Given the description of an element on the screen output the (x, y) to click on. 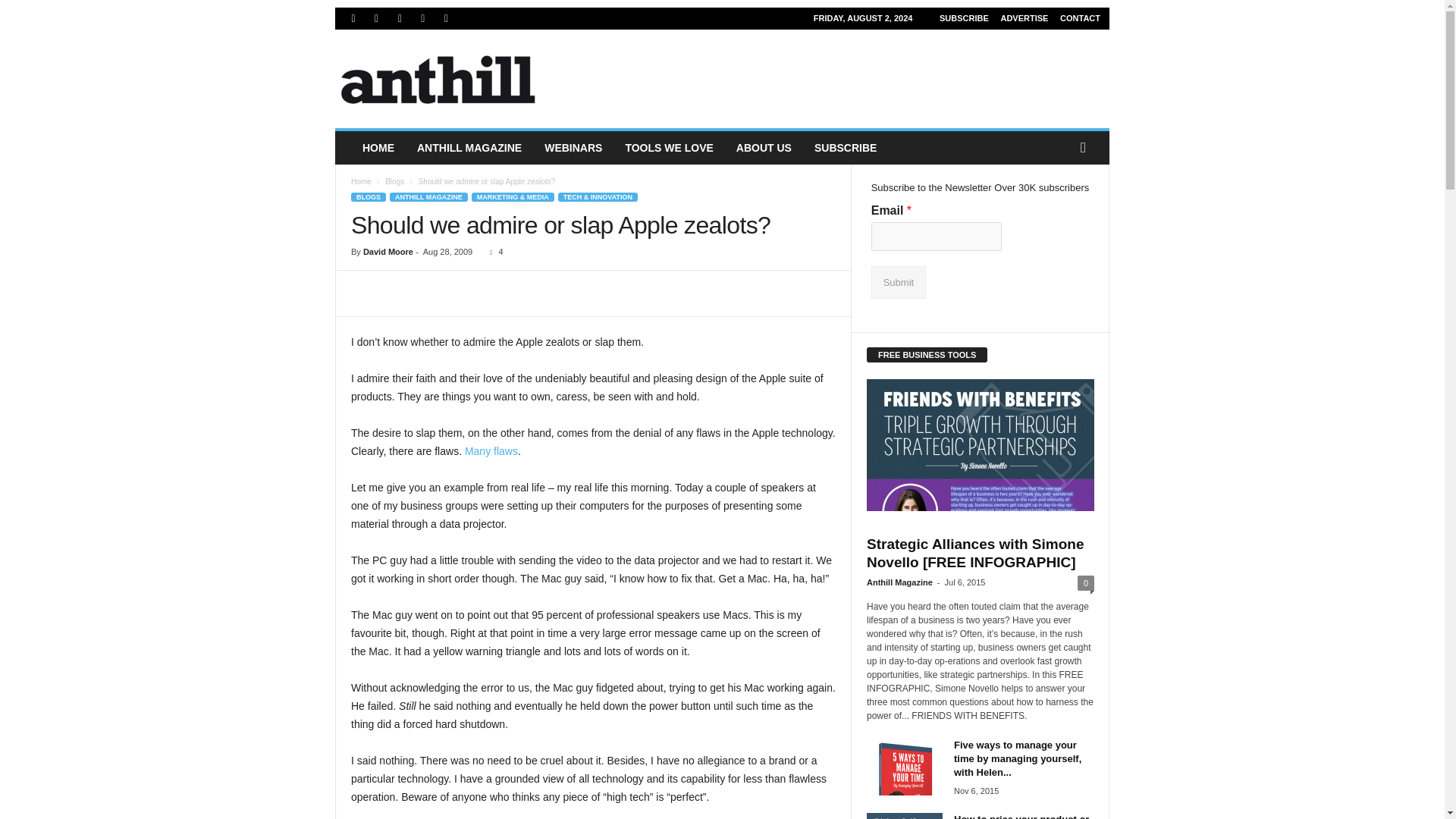
SUBSCRIBE (963, 17)
CONTACT (1079, 17)
ADVERTISE (1024, 17)
View all posts in Blogs (394, 181)
